Given the description of an element on the screen output the (x, y) to click on. 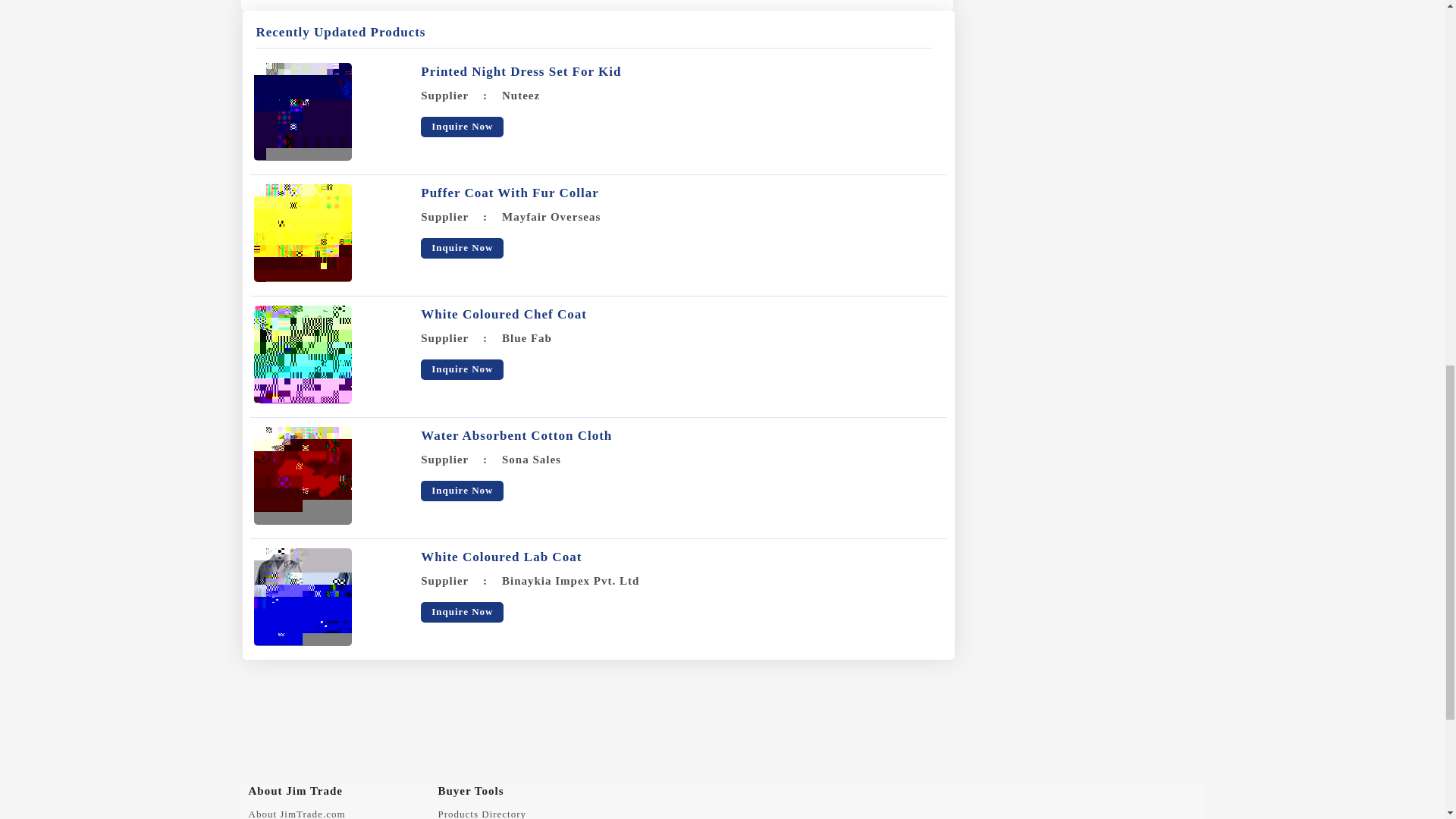
Printed Night Dress Set For Kid (520, 71)
Inquire Now (461, 127)
White Coloured Chef Coat (301, 354)
Water Absorbent Cotton Cloth (301, 475)
Inquire Now (461, 369)
Products Directory (482, 813)
Inquire Now (461, 611)
Water Absorbent Cotton Cloth (515, 435)
White Coloured Lab Coat (500, 556)
About JimTrade.com (297, 813)
White Coloured Chef Coat (503, 314)
Puffer Coat With Fur Collar (301, 232)
Inquire Now (461, 248)
Products Directory (482, 813)
Puffer Coat With Fur Collar (509, 192)
